Given the description of an element on the screen output the (x, y) to click on. 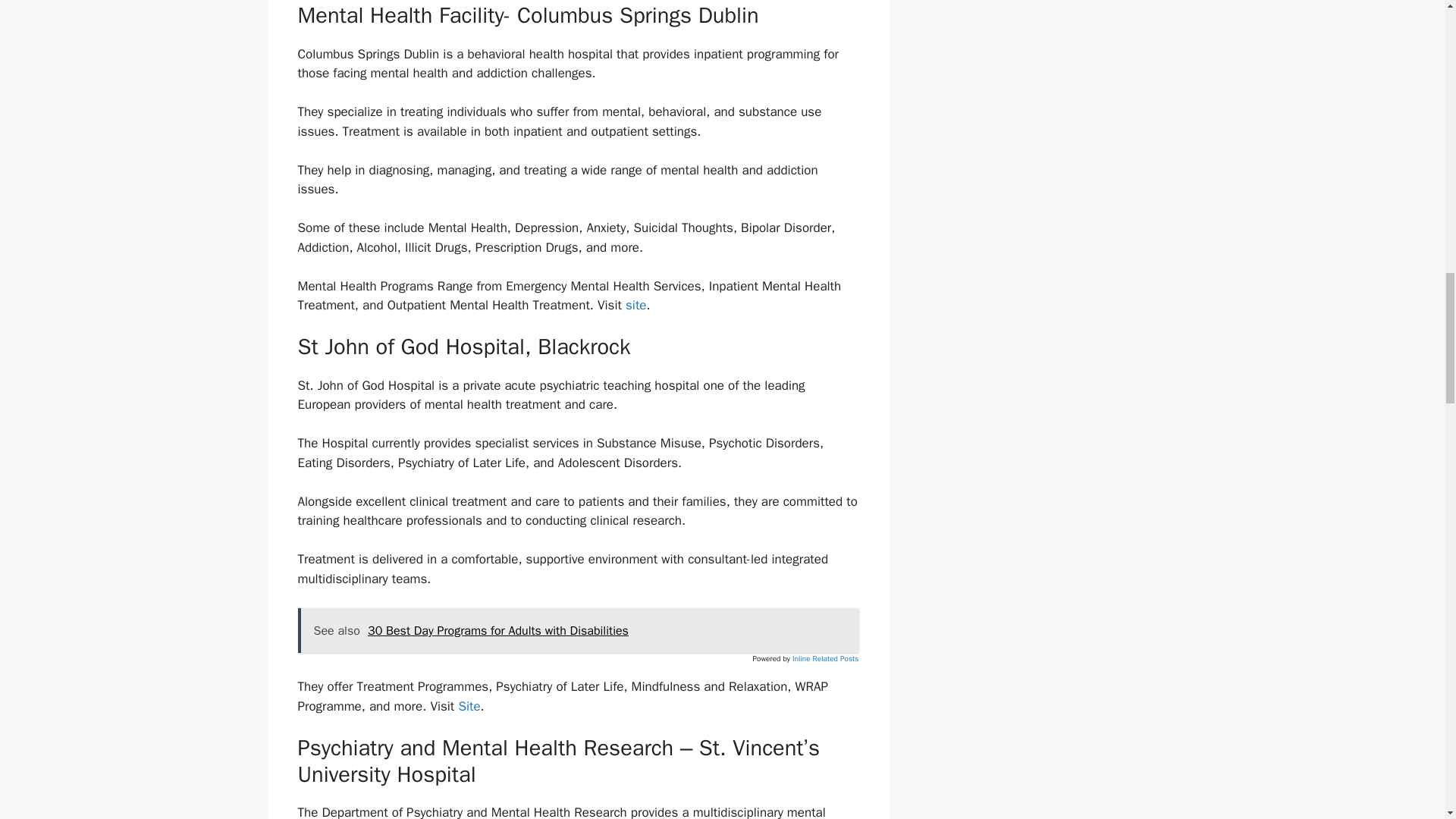
Inline Related Posts (825, 658)
See also  30 Best Day Programs for Adults with Disabilities (578, 630)
site (636, 304)
Site (469, 706)
